Given the description of an element on the screen output the (x, y) to click on. 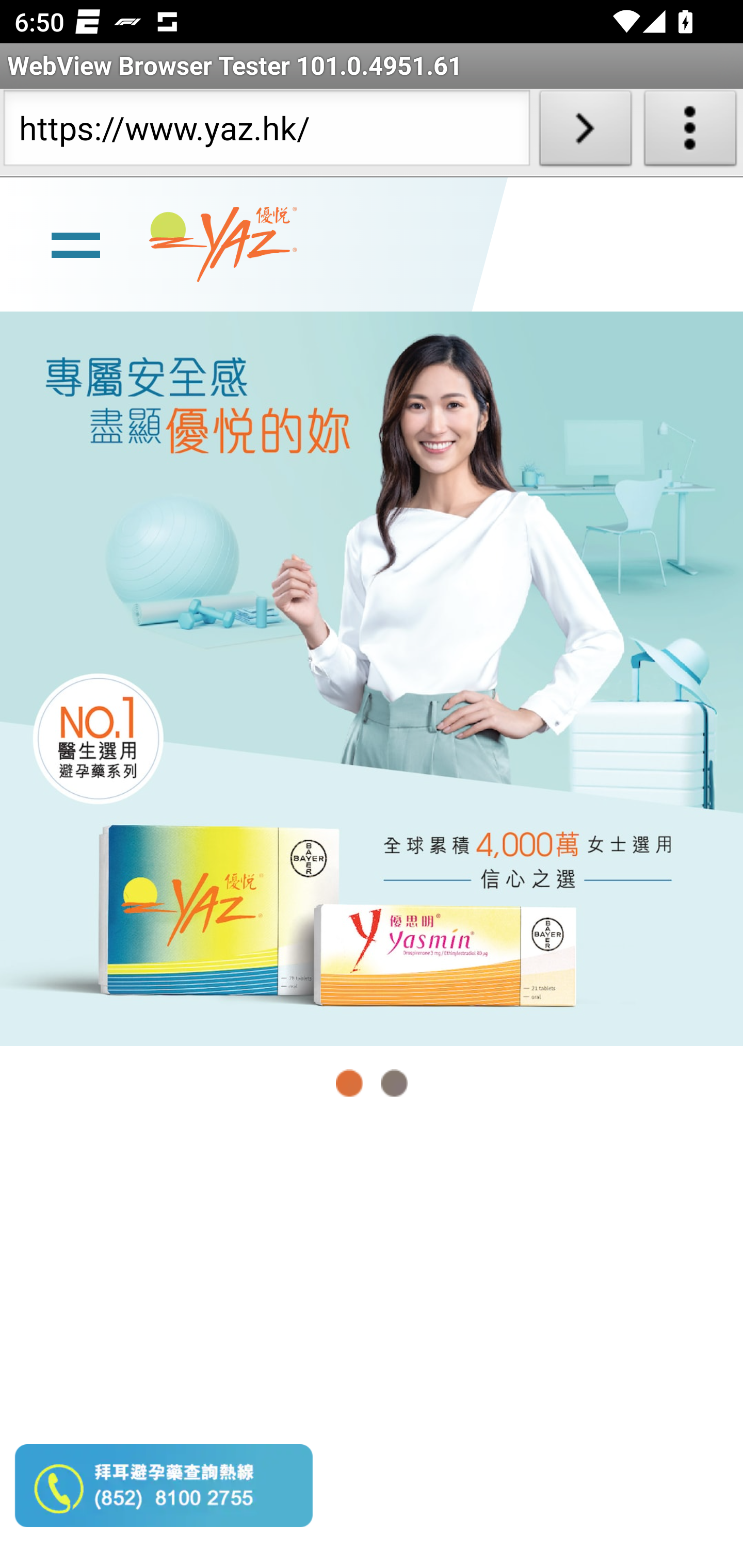
https://www.yaz.hk/ (266, 132)
Load URL (585, 132)
About WebView (690, 132)
www.yaz (222, 244)
line Toggle burger menu (75, 242)
slide 1 Alt tag Alt tag (371, 677)
1 of 2 (349, 1083)
2 of 2 (393, 1083)
Video Player (371, 1345)
